Given the description of an element on the screen output the (x, y) to click on. 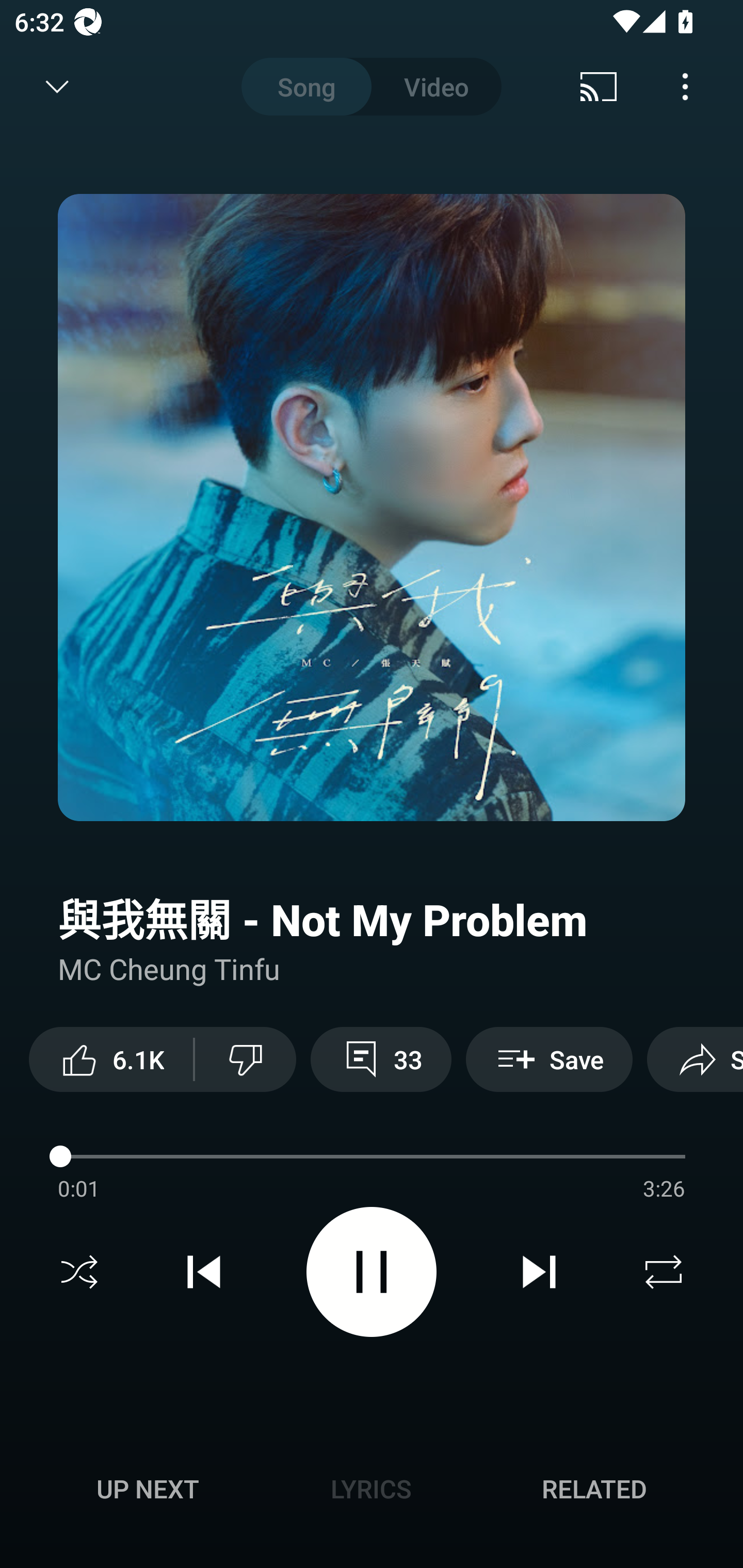
Minimize (57, 86)
Cast. Disconnected (598, 86)
Menu (684, 86)
6.1K like this video along with 6,103 other people (110, 1059)
Dislike (245, 1059)
33 View 33 comments (380, 1059)
Save Save to playlist (548, 1059)
Share (695, 1059)
Pause video (371, 1272)
Shuffle off (79, 1272)
Previous track (203, 1272)
Next track (538, 1272)
Repeat off (663, 1272)
Up next UP NEXT Lyrics LYRICS Related RELATED (371, 1491)
Lyrics LYRICS (370, 1488)
Related RELATED (594, 1488)
